Given the description of an element on the screen output the (x, y) to click on. 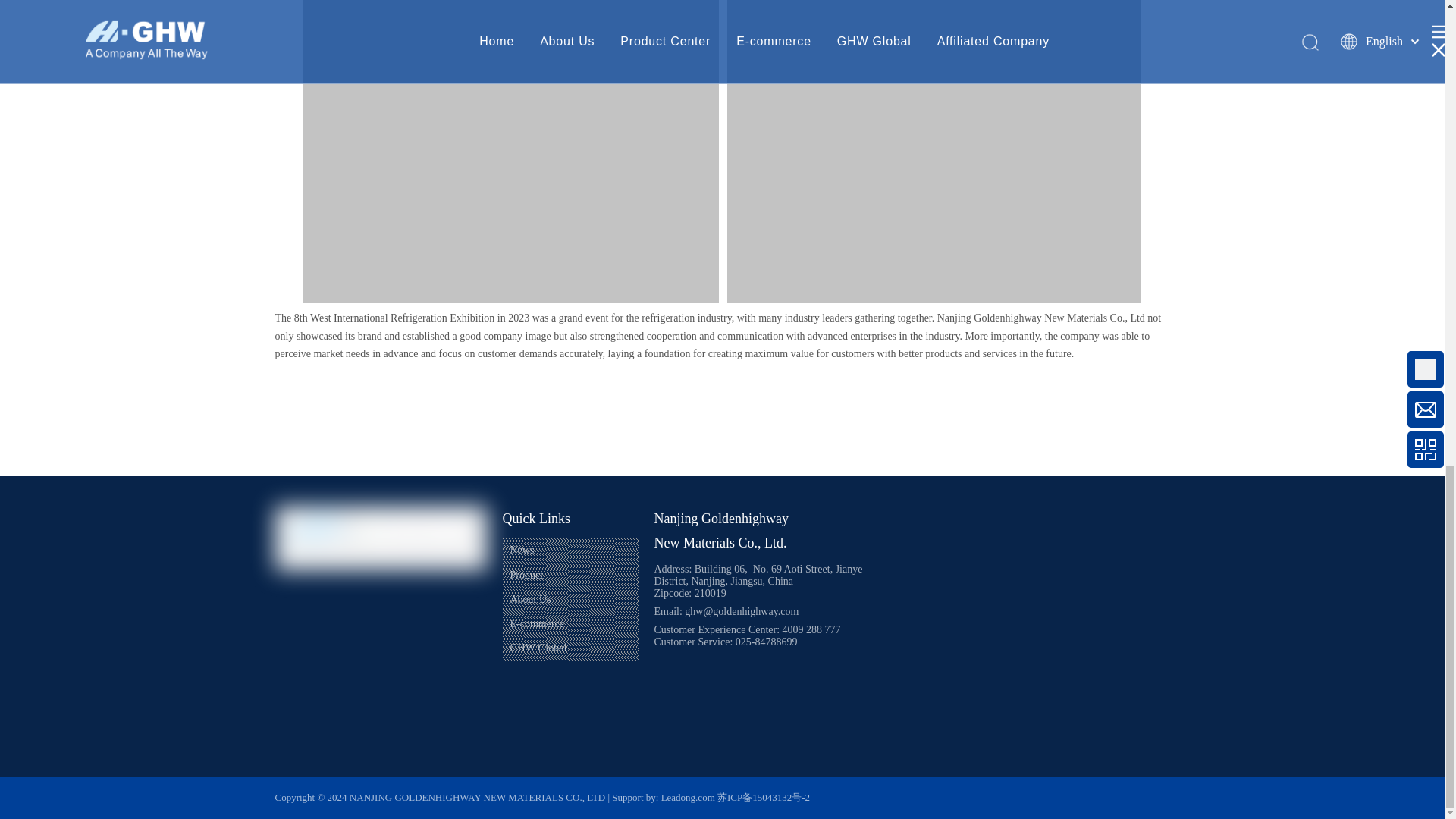
About Us (529, 599)
E-commerce (536, 623)
News (521, 550)
News (521, 550)
Facebook (292, 587)
Product (526, 574)
About Us (529, 599)
GHW Global (537, 647)
Product (526, 574)
